Given the description of an element on the screen output the (x, y) to click on. 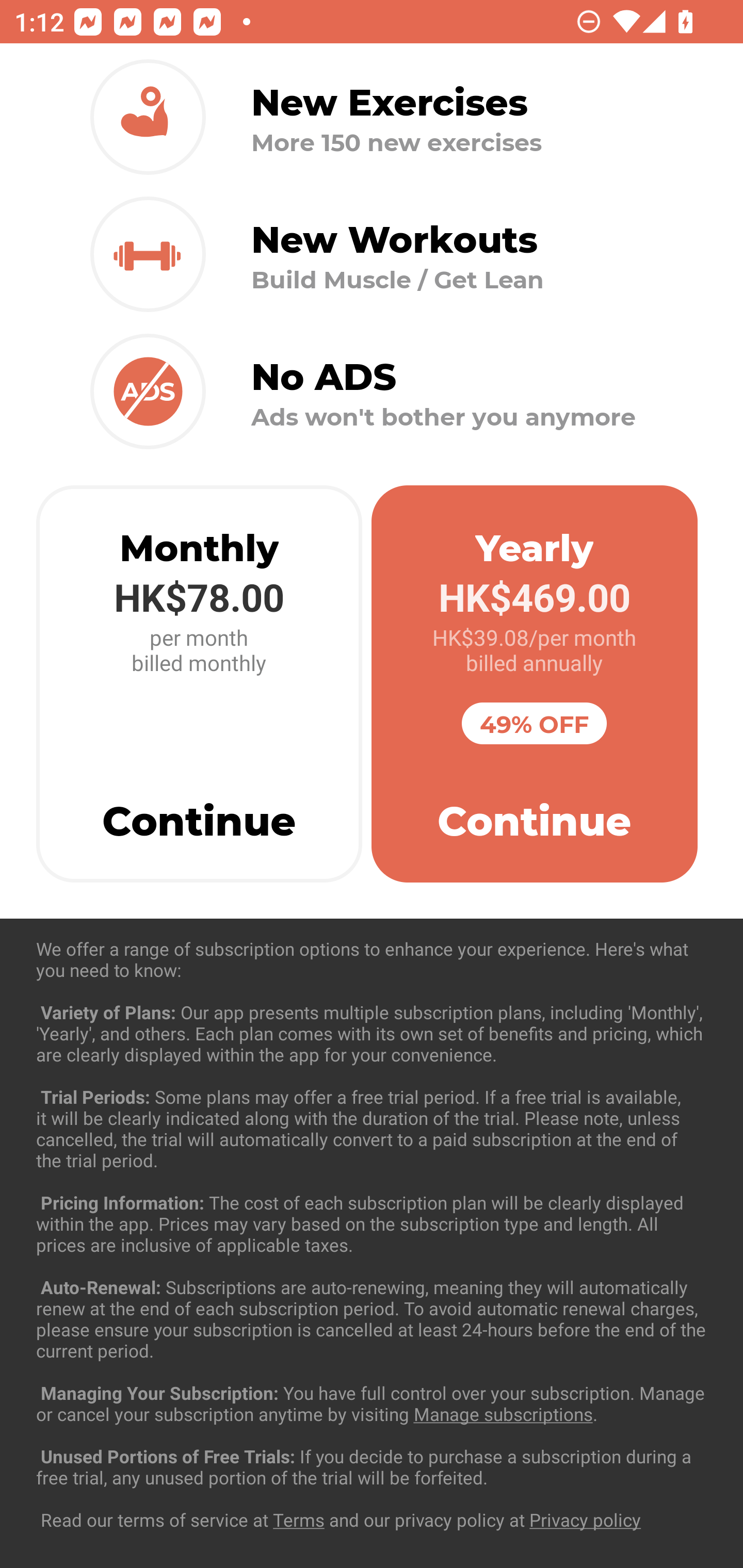
Monthly HK$78.00 per month
billed monthly Continue (199, 684)
Exercise Chest 37 exercises (371, 1033)
Exercise Forearms 4 exercises (371, 1232)
Exercise Legs 36 exercises (371, 1430)
